Given the description of an element on the screen output the (x, y) to click on. 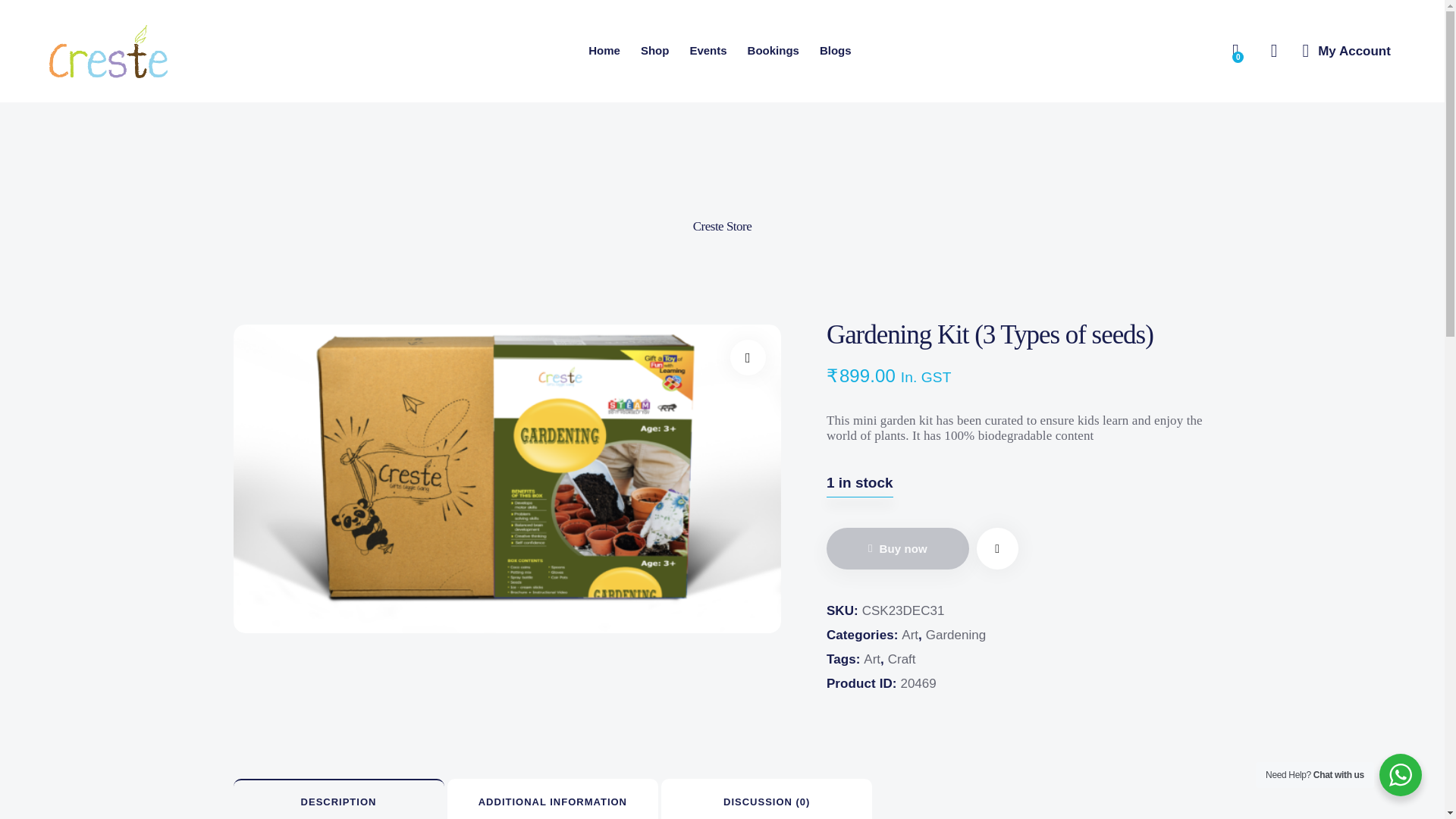
Home (604, 51)
My Account (1346, 50)
Events (707, 51)
Bookings (772, 51)
Shop (654, 51)
Art (909, 635)
Blogs (835, 51)
Buy now (898, 548)
Gardening (955, 635)
